Given the description of an element on the screen output the (x, y) to click on. 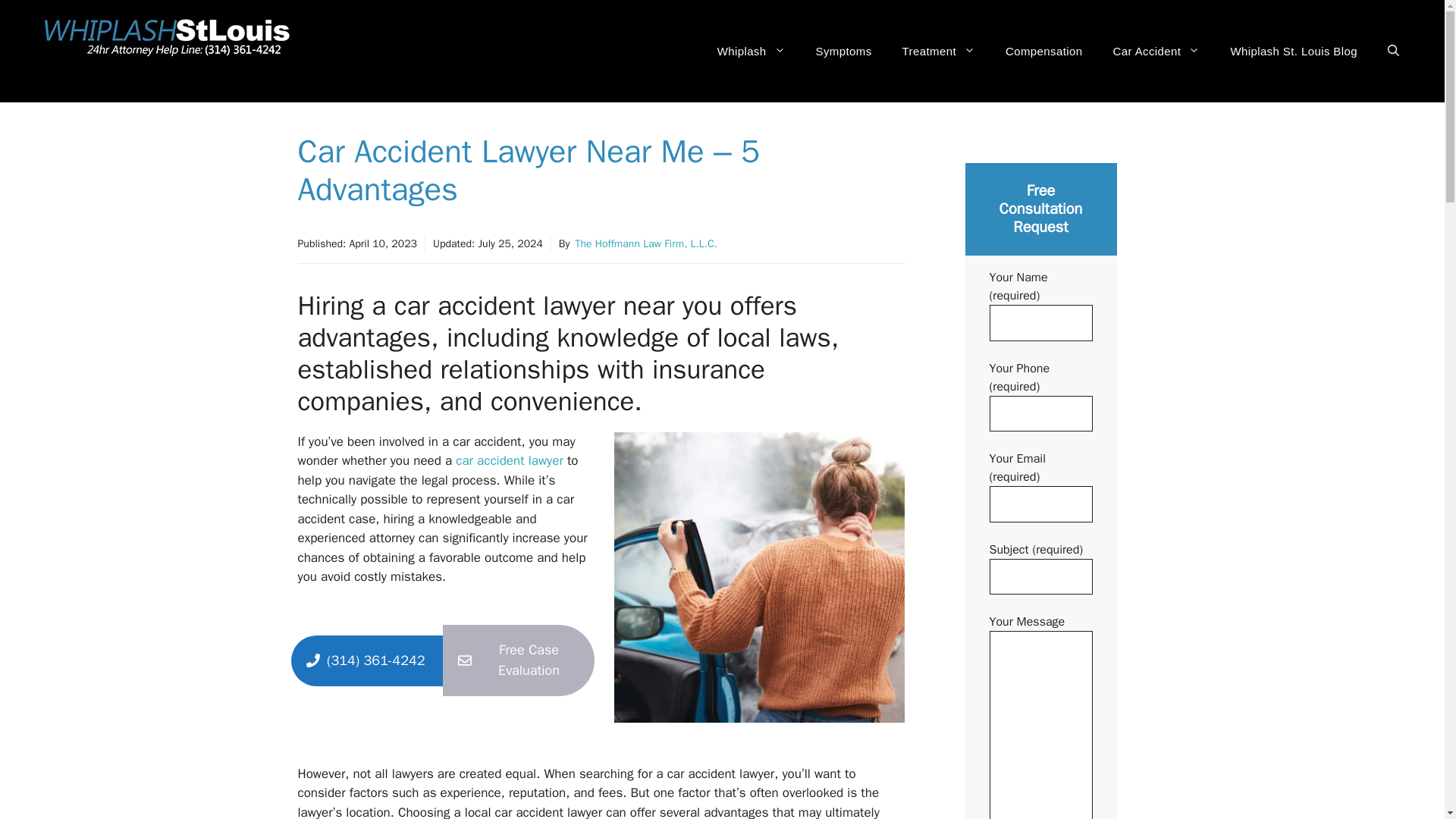
Whiplash (750, 51)
Compensation (1043, 51)
Treatment (938, 51)
Car Accident (1156, 51)
Whiplash St. Louis Blog (1293, 51)
Symptoms (843, 51)
